Given the description of an element on the screen output the (x, y) to click on. 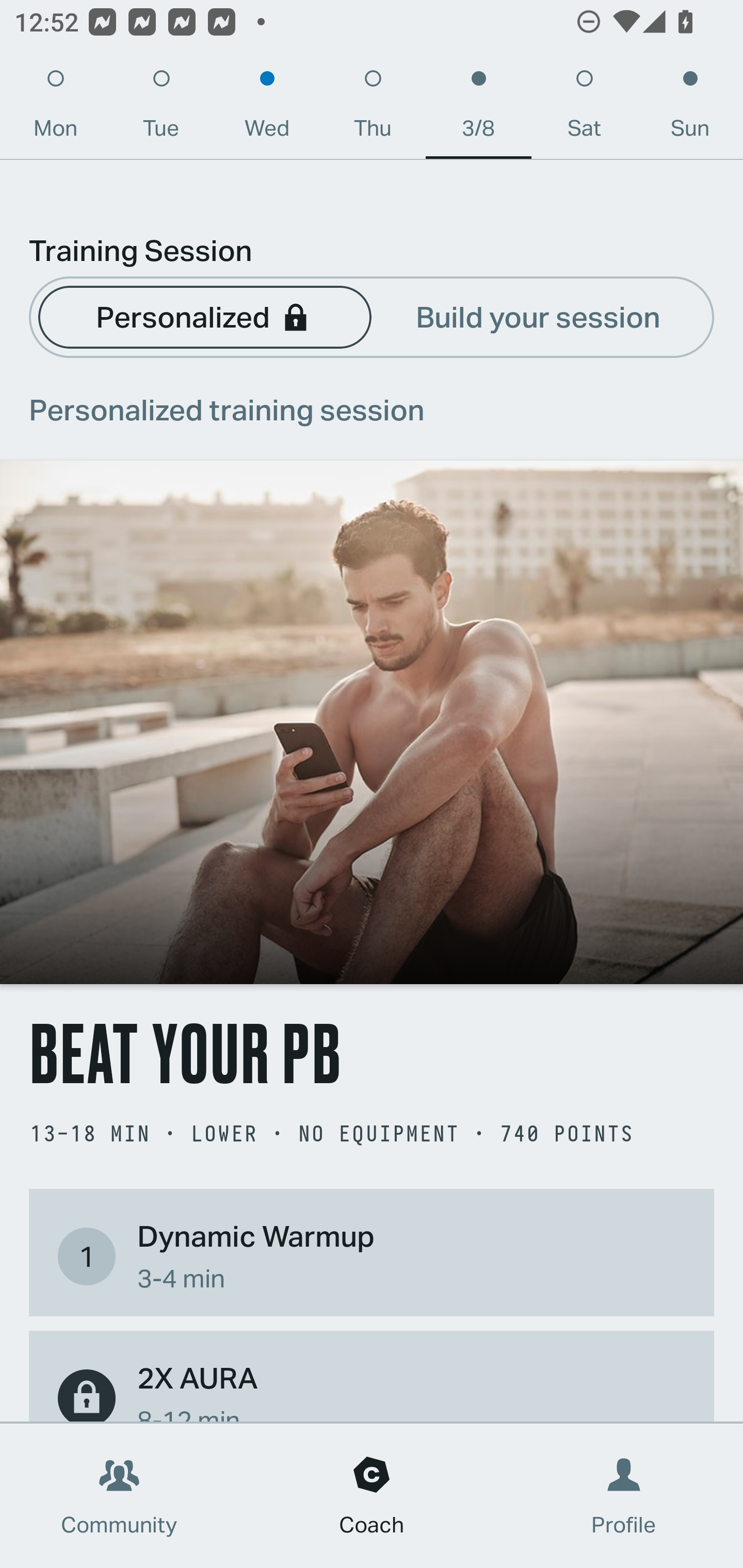
Mon (55, 108)
Tue (160, 108)
Wed (266, 108)
Thu (372, 108)
3/8 (478, 108)
Sat (584, 108)
Sun (690, 108)
Personalized (204, 315)
Build your session (538, 315)
1 Dynamic Warmup 3-4 min (371, 1256)
2X AURA 8-12 min (371, 1388)
Community (119, 1495)
Profile (624, 1495)
